Given the description of an element on the screen output the (x, y) to click on. 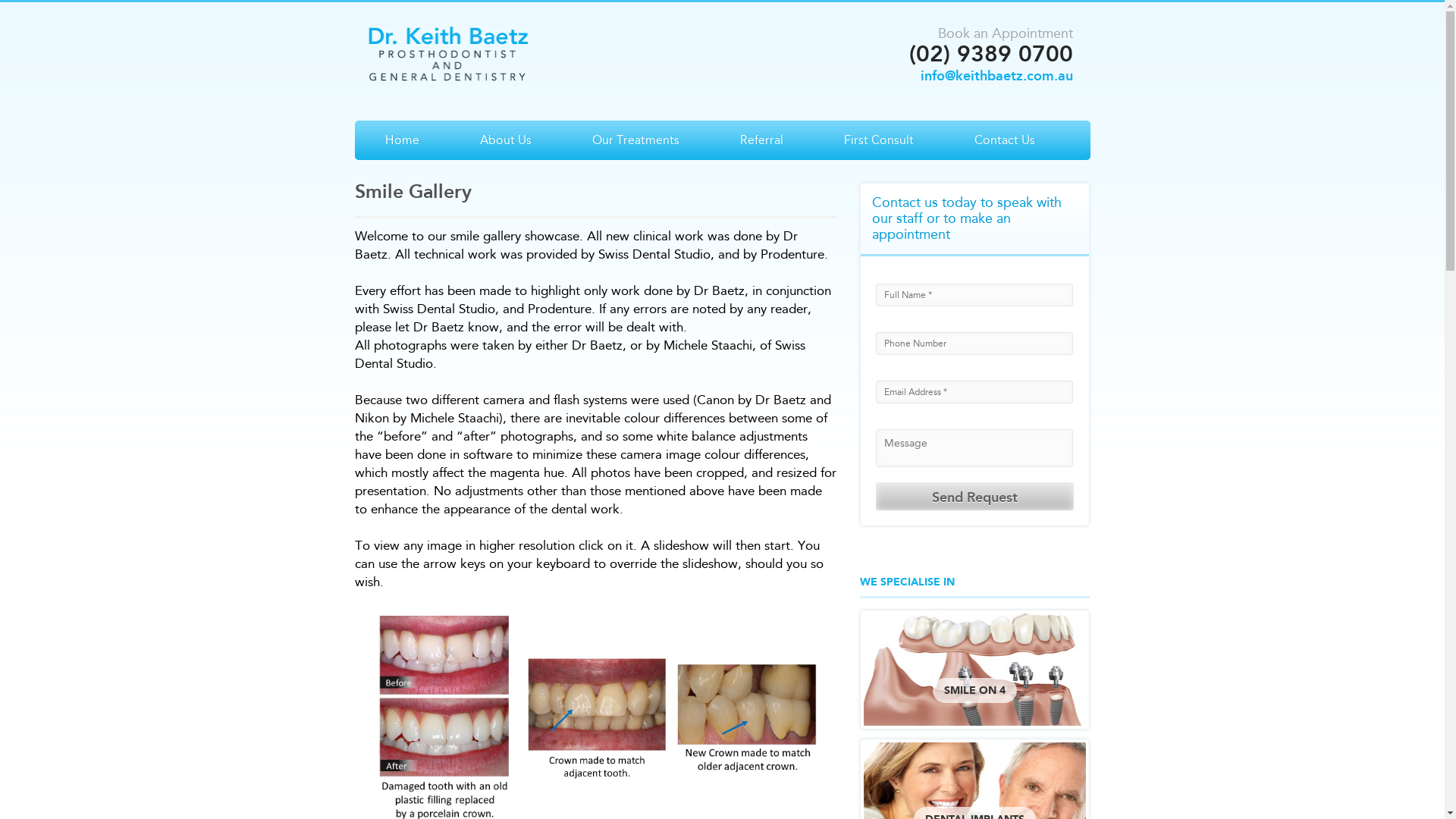
SMILE ON 4 Element type: text (974, 669)
info@keithbaetz.com.au Element type: text (996, 75)
About Us Element type: text (504, 140)
1.jpg Element type: hover (444, 716)
Home Element type: text (401, 140)
Contact Us Element type: text (1003, 140)
First Consult Element type: text (877, 140)
4.jpg Element type: hover (747, 716)
2.jpg Element type: hover (595, 716)
Keith Baetz Element type: hover (447, 52)
Our Treatments Element type: text (635, 140)
Send Request Element type: text (974, 496)
Referral Element type: text (761, 140)
